Given the description of an element on the screen output the (x, y) to click on. 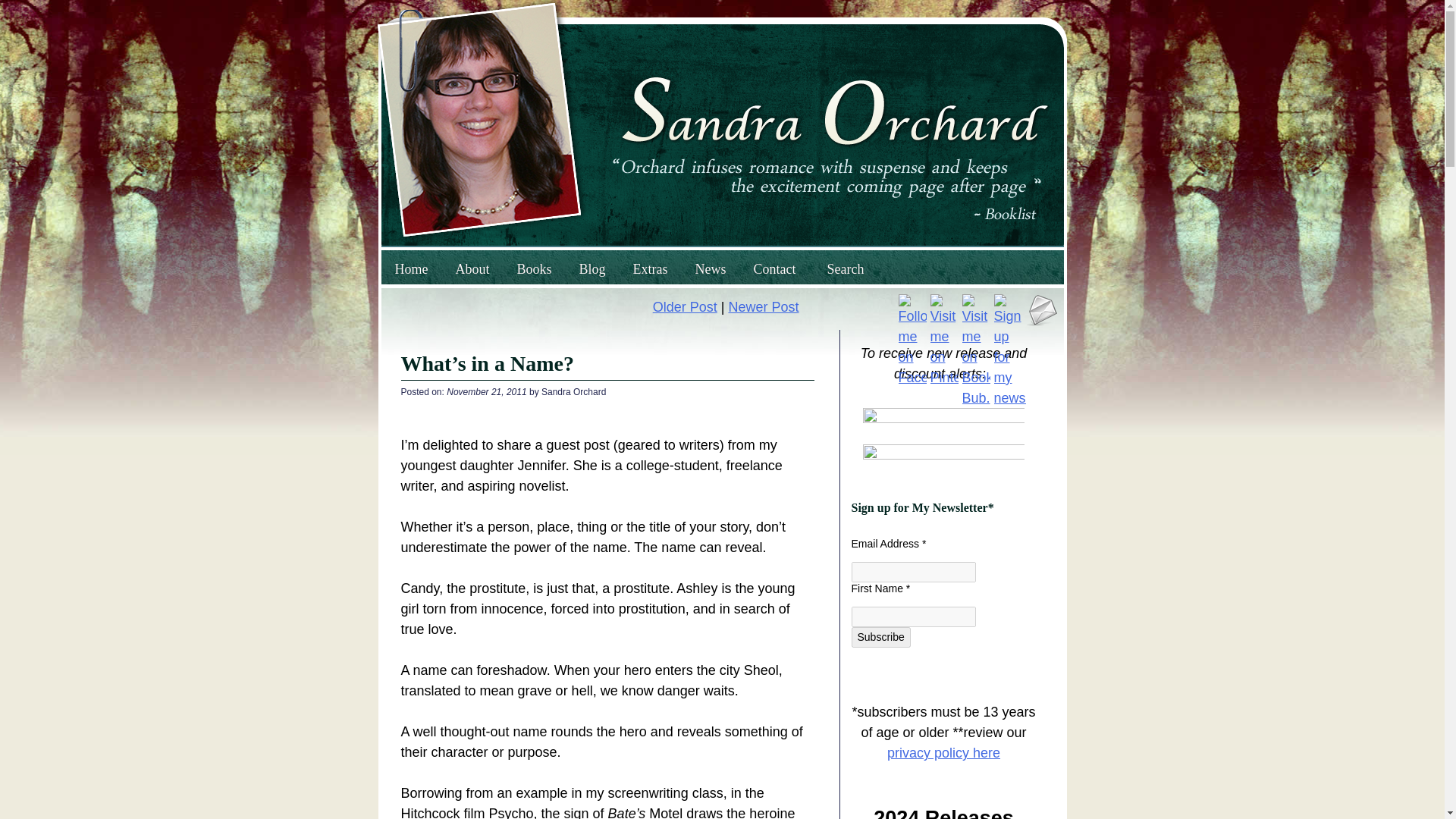
Subscribe (880, 637)
Books (534, 269)
Contact Sandra (1042, 321)
Contact Sandra (1042, 309)
Home (410, 269)
About (471, 269)
